Given the description of an element on the screen output the (x, y) to click on. 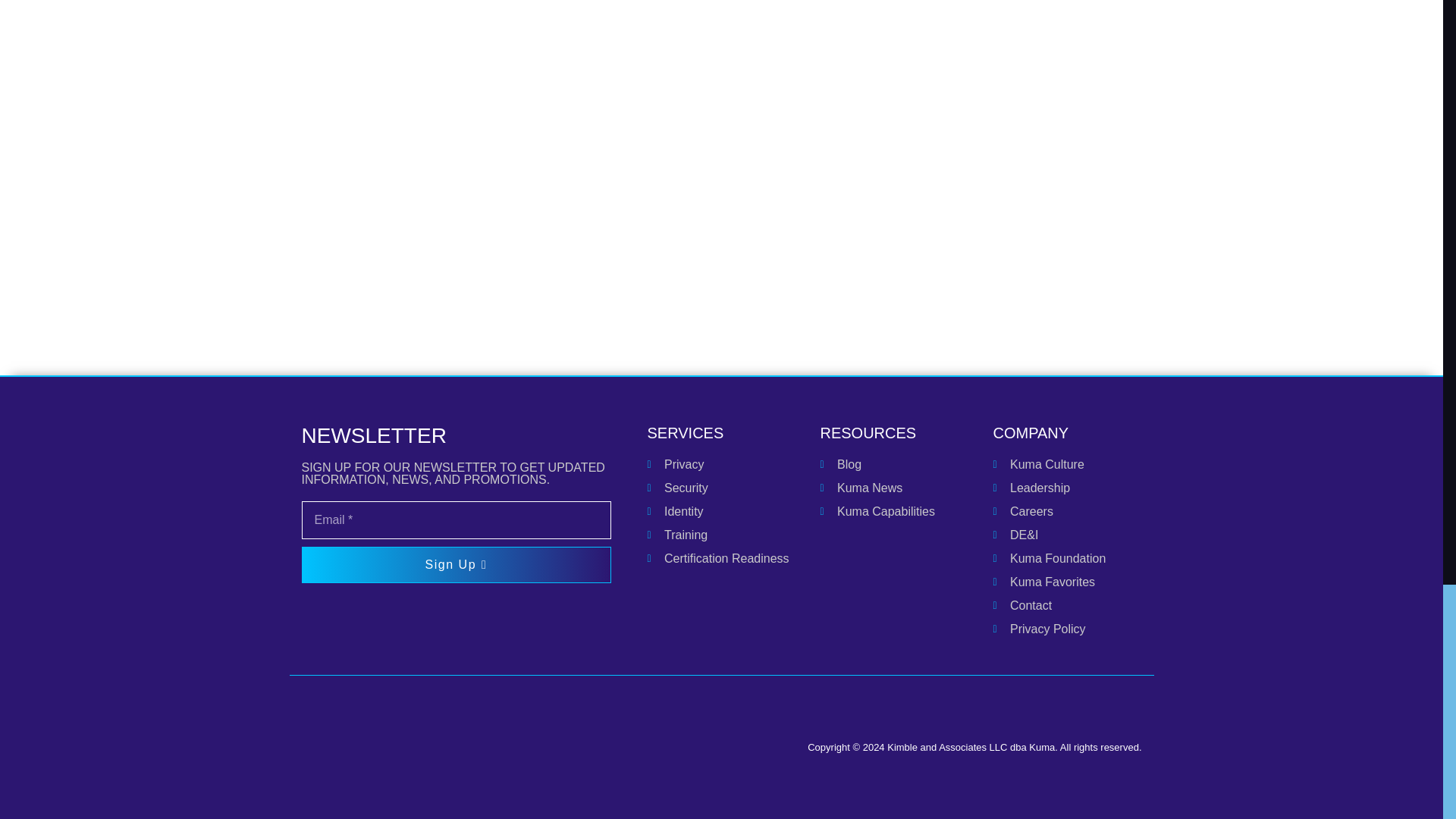
COMPANY (1066, 432)
SERVICES (721, 511)
Sign Up (721, 432)
RESOURCES (456, 542)
NEWSLETTER (895, 432)
